Given the description of an element on the screen output the (x, y) to click on. 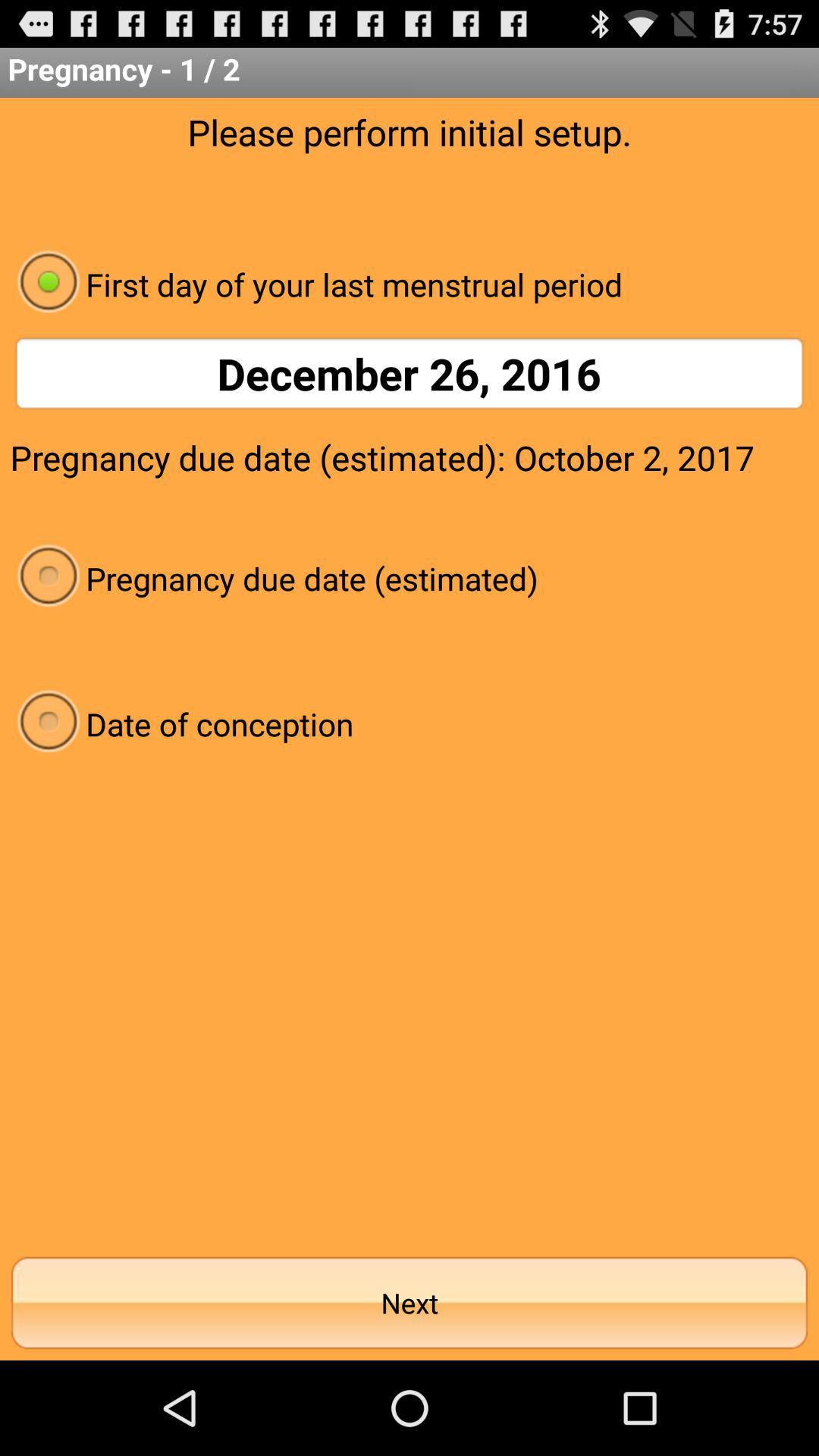
press the radio button below the pregnancy due date icon (409, 723)
